Given the description of an element on the screen output the (x, y) to click on. 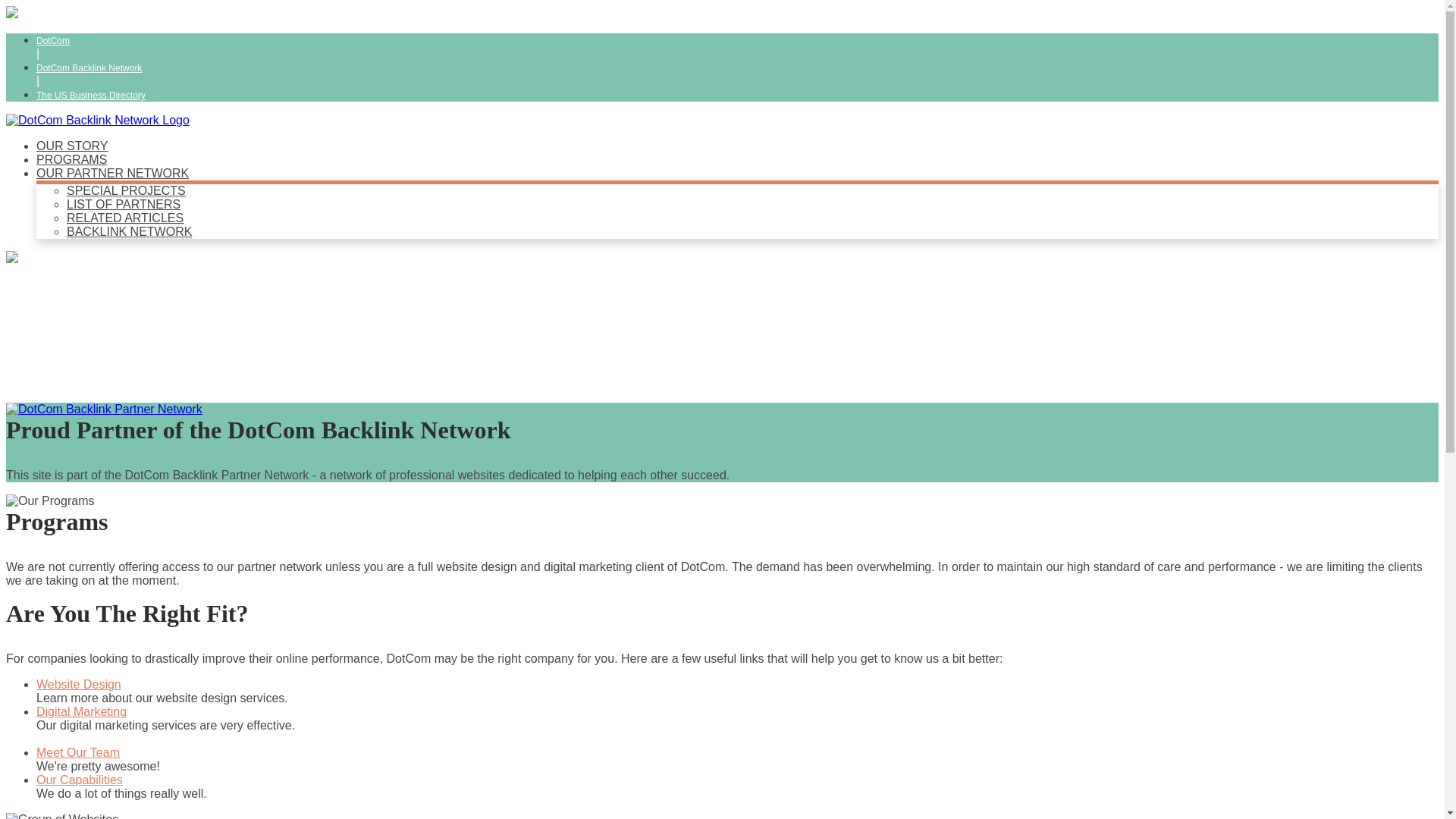
LIST OF PARTNERS (123, 204)
Website Design (78, 684)
RELATED ARTICLES (124, 218)
Our Capabilities (79, 779)
OUR PARTNER NETWORK (112, 173)
BACKLINK NETWORK (129, 232)
DotCom Backlink Network (88, 68)
The US Business Directory (90, 95)
SPECIAL PROJECTS (126, 191)
Meet Our Team (77, 752)
OUR STORY (71, 145)
PROGRAMS (71, 159)
DotCom (52, 40)
Digital Marketing (81, 711)
